Given the description of an element on the screen output the (x, y) to click on. 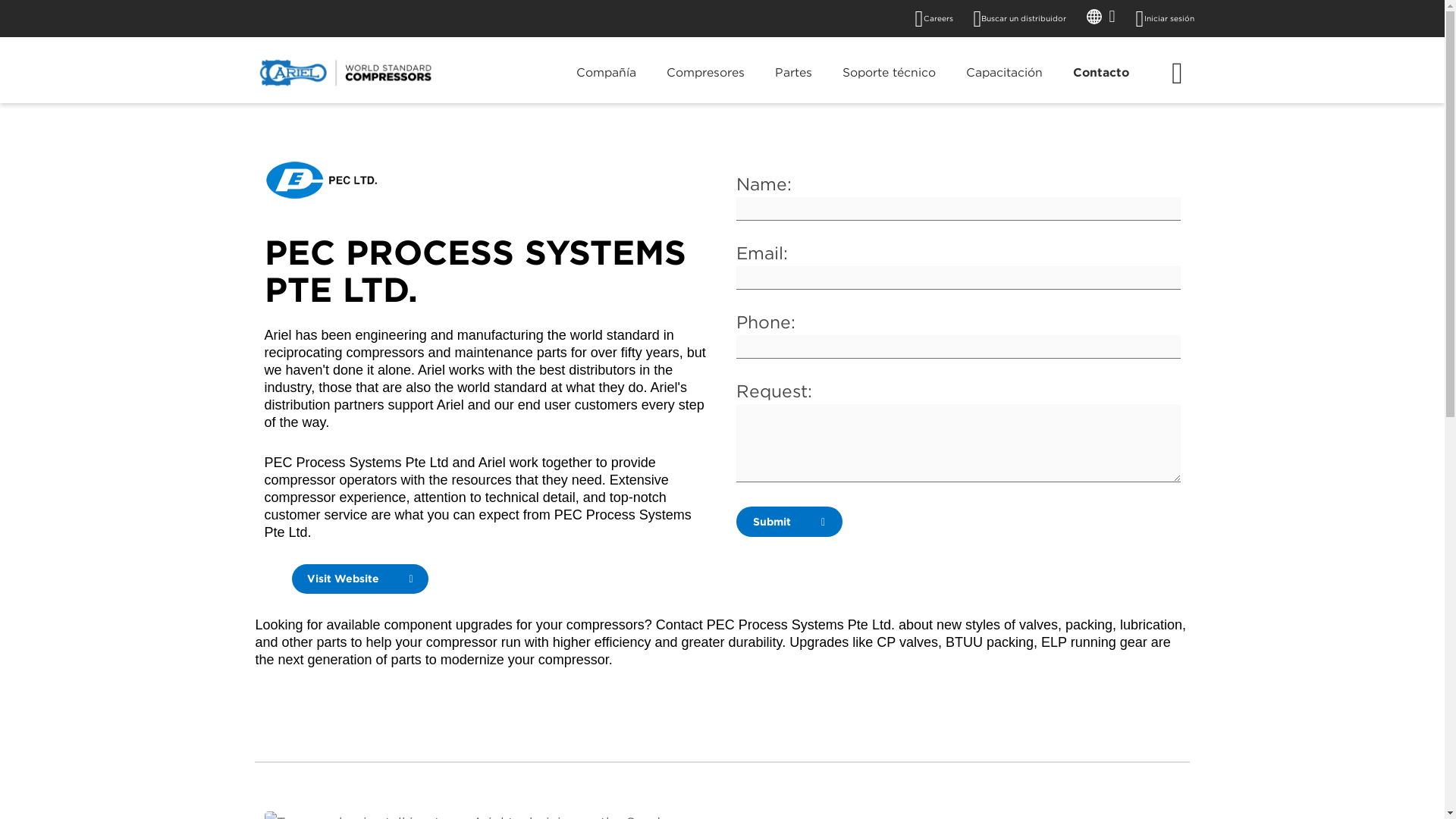
Partes (793, 83)
Careers (937, 18)
ariel-corp (344, 72)
Buscar un distribuidor (1024, 18)
Visit Website (359, 578)
Partes (793, 83)
Compresores (704, 83)
Anterior (280, 815)
Compresores (704, 83)
Submit (788, 521)
